Given the description of an element on the screen output the (x, y) to click on. 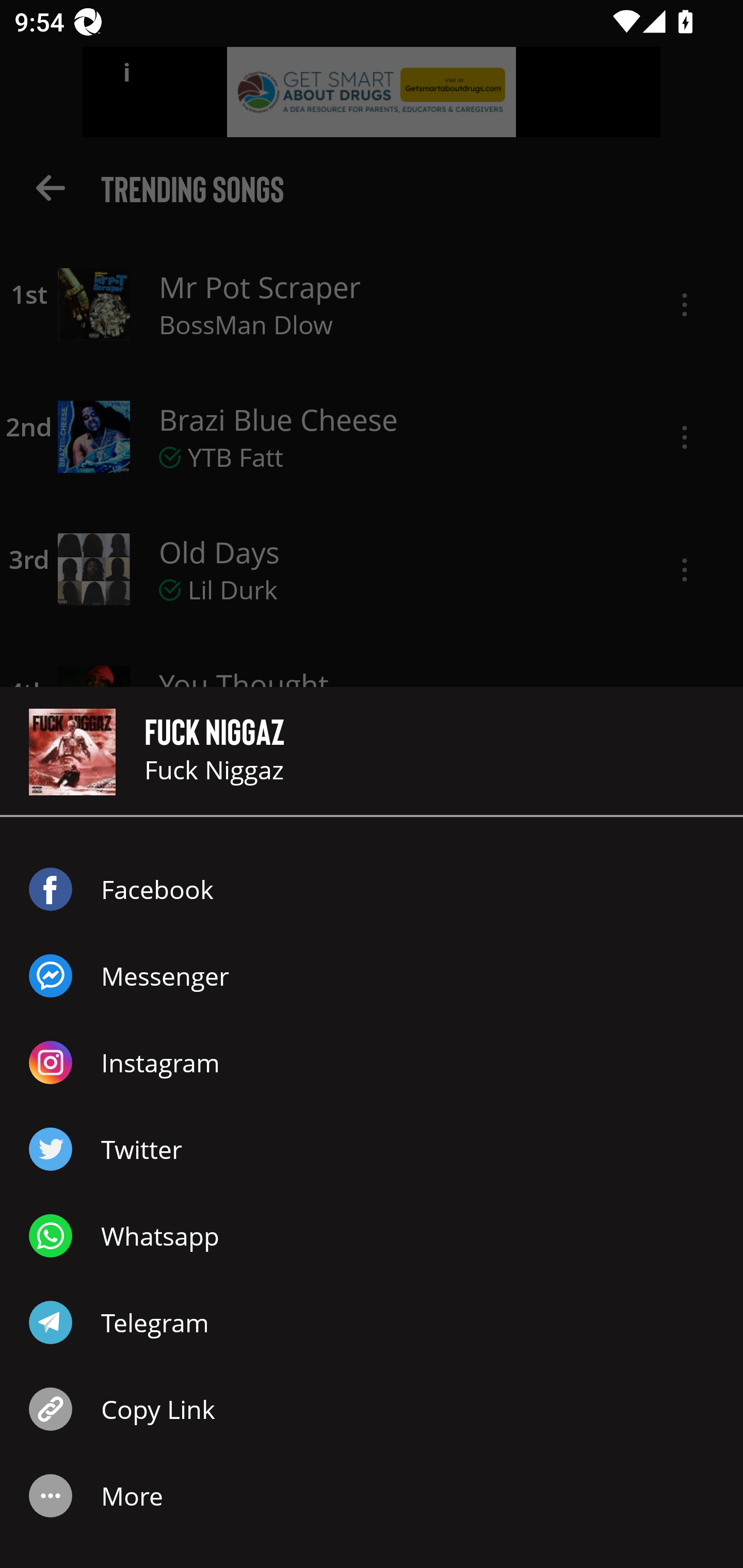
Facebook (371, 888)
Messenger (371, 975)
Instagram (371, 1062)
Twitter (371, 1149)
Whatsapp (371, 1236)
Telegram (371, 1322)
Copy Link (371, 1408)
More (371, 1495)
